Given the description of an element on the screen output the (x, y) to click on. 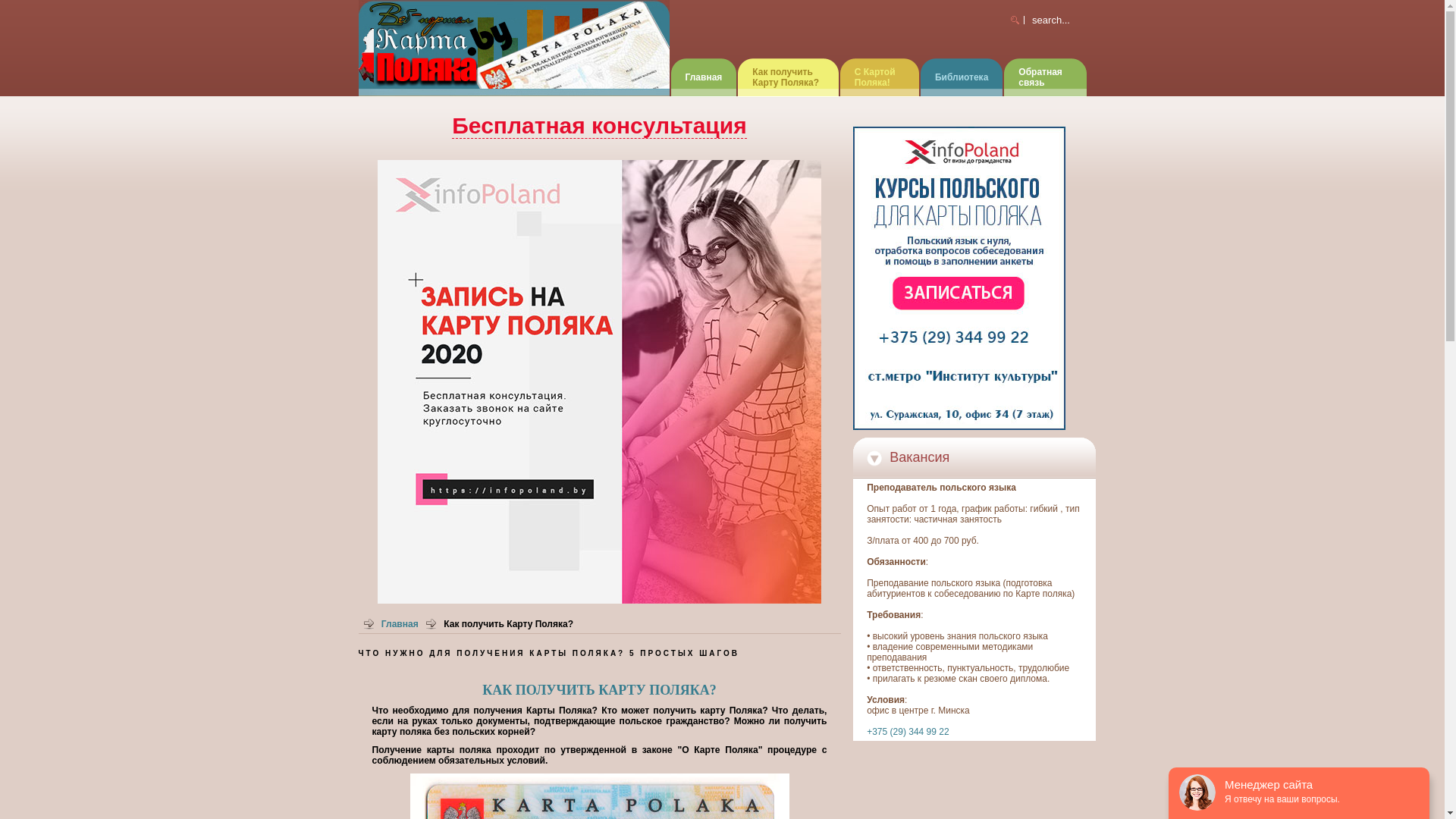
+375 (29) 344 99 22 Element type: text (907, 731)
